Given the description of an element on the screen output the (x, y) to click on. 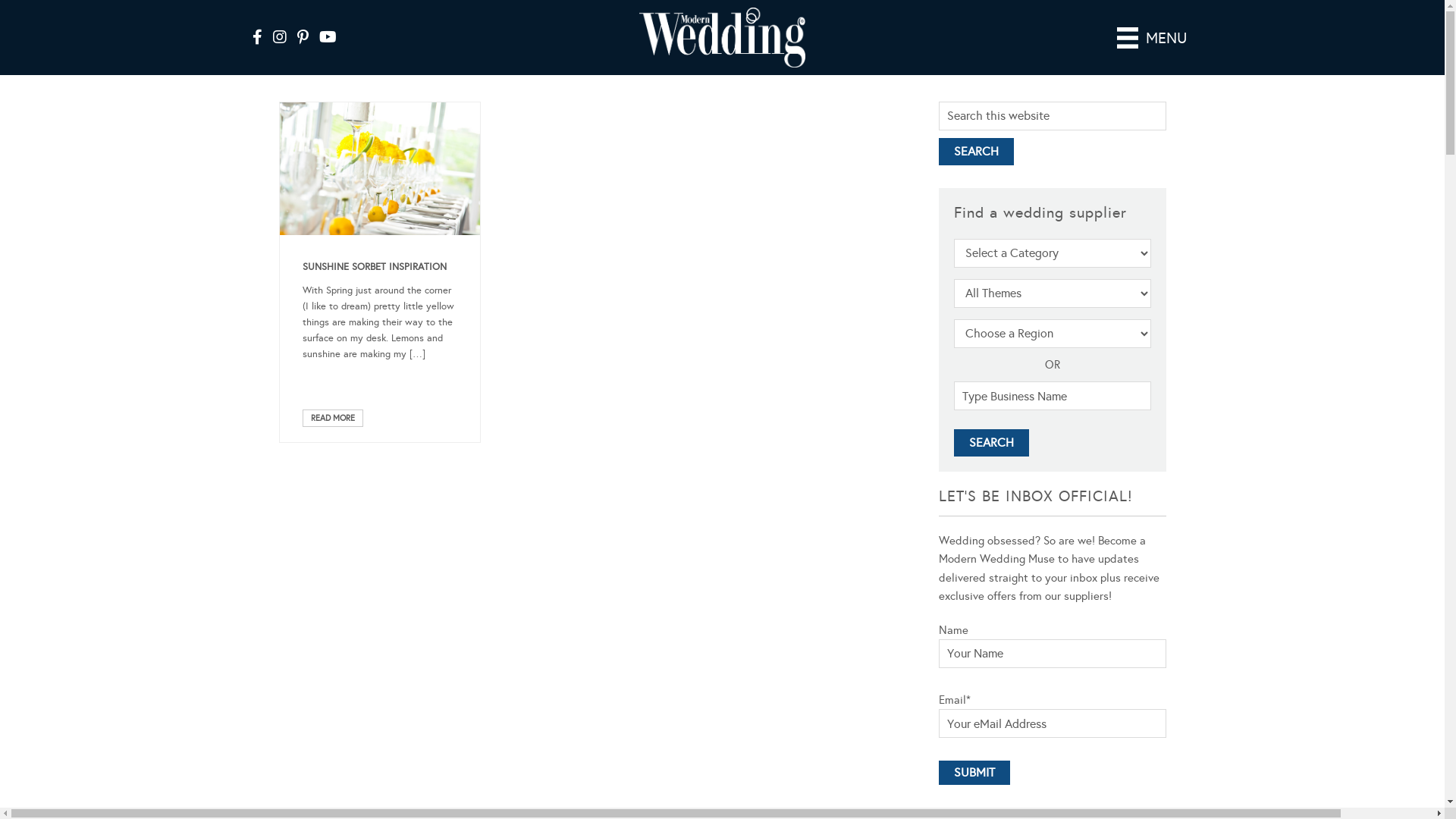
MW-Logo_#white Element type: hover (722, 37)
Submit Element type: text (974, 772)
Search Element type: text (975, 151)
SUNSHINE SORBET INSPIRATION Element type: text (373, 266)
READ MORE Element type: text (331, 417)
